Given the description of an element on the screen output the (x, y) to click on. 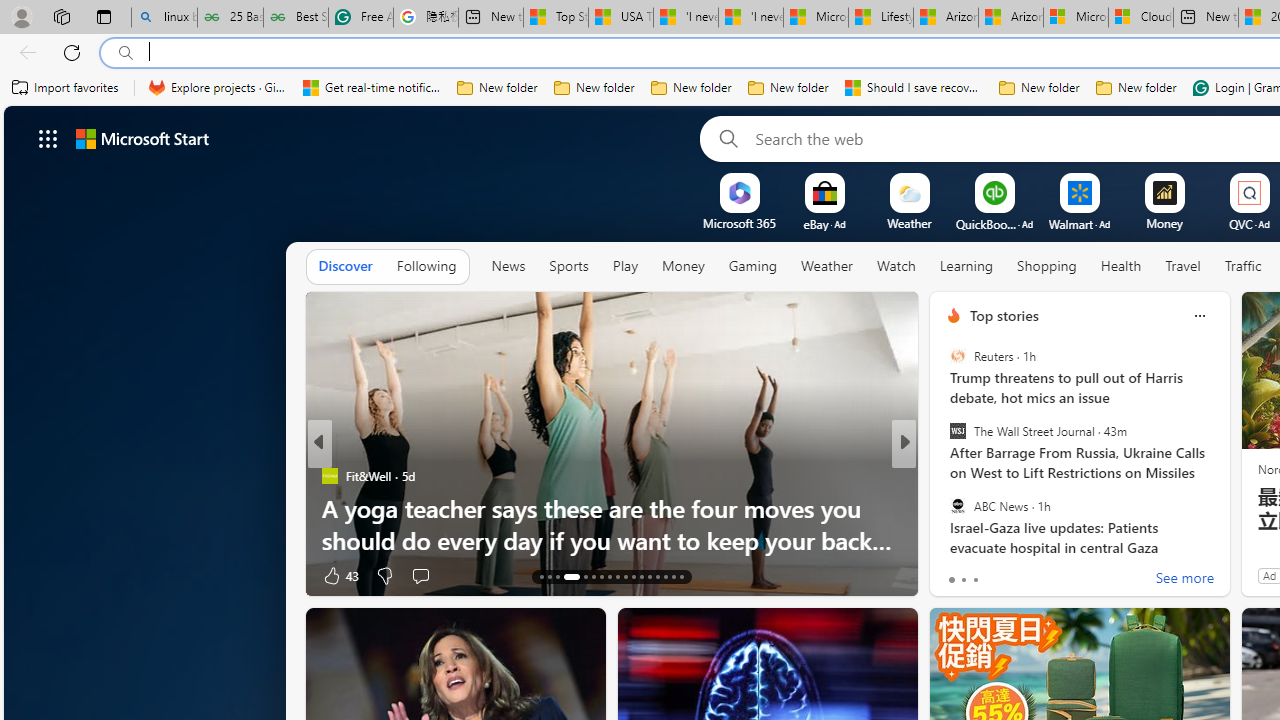
oceanbluemarine (982, 507)
AutomationID: tab-23 (632, 576)
The Wall Street Journal (957, 431)
Shopping (1046, 267)
43 Like (340, 574)
AutomationID: tab-25 (649, 576)
AutomationID: tab-26 (656, 576)
Kobocents (944, 475)
16 Like (956, 574)
25 Basic Linux Commands For Beginners - GeeksforGeeks (230, 17)
128 Like (959, 574)
